Given the description of an element on the screen output the (x, y) to click on. 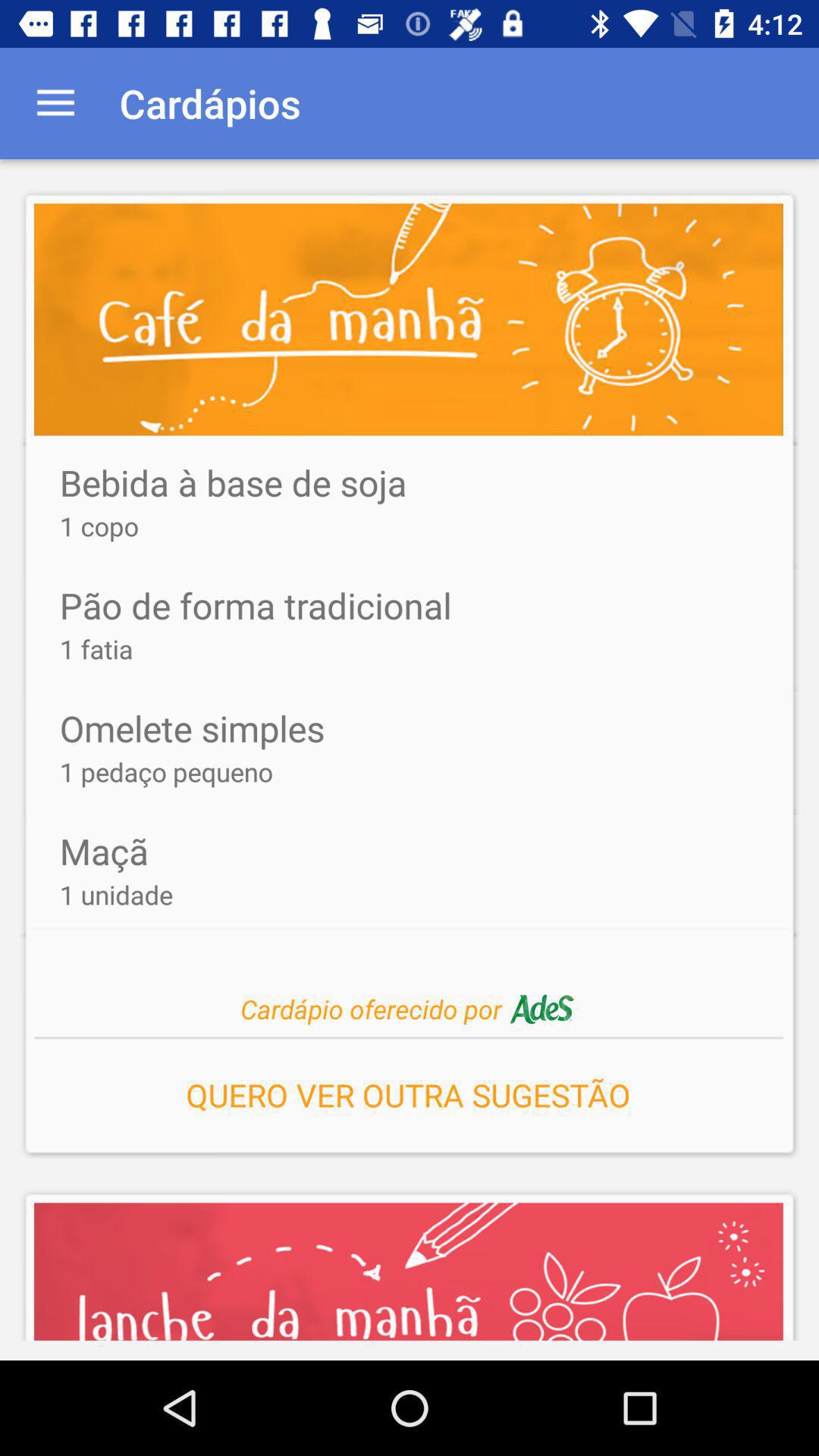
select the quero ver outra icon (408, 1090)
